Given the description of an element on the screen output the (x, y) to click on. 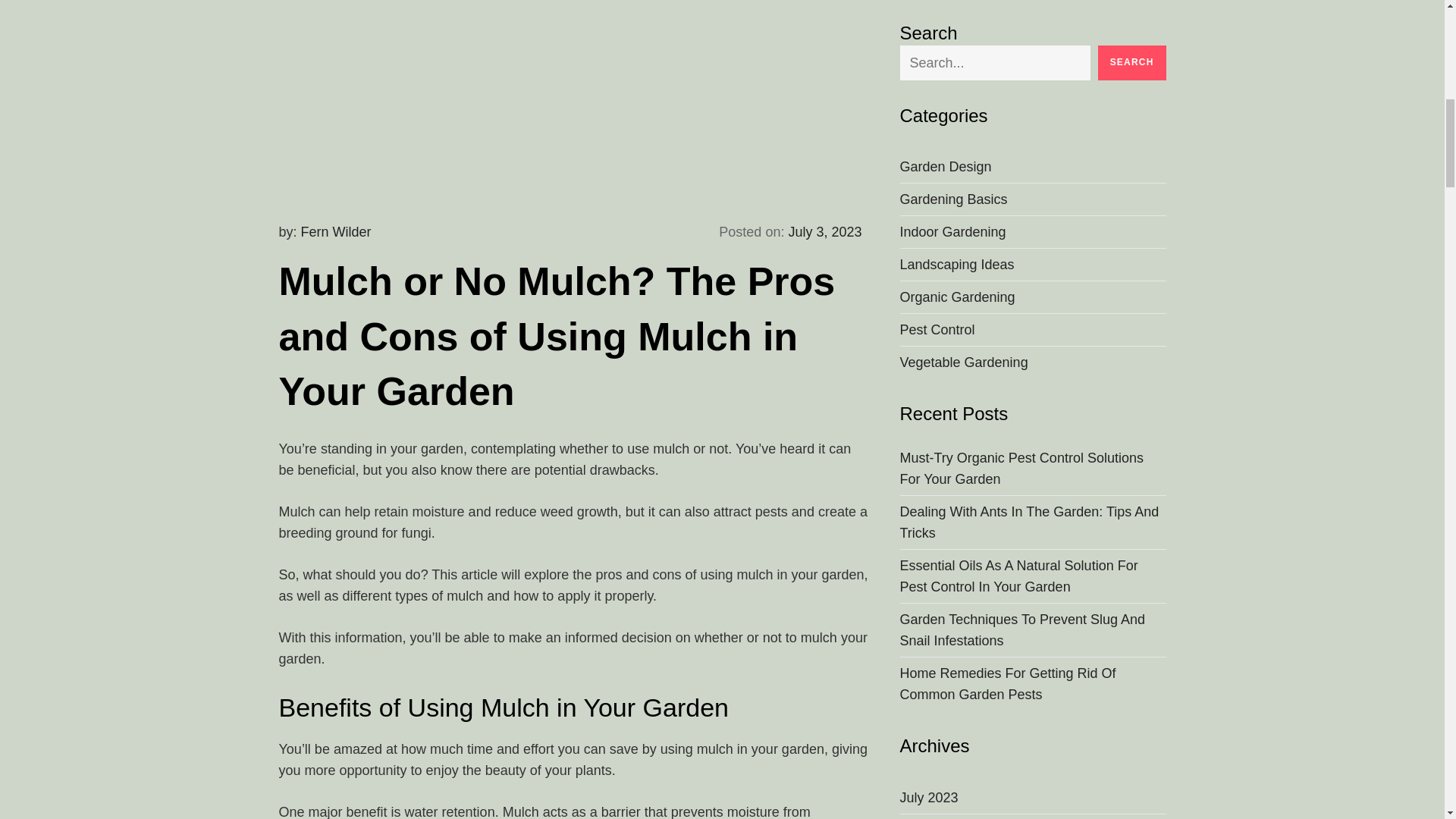
June 2023 (930, 400)
Must-Try Organic Pest Control Solutions For Your Garden (1032, 38)
May 2023 (929, 432)
July 3, 2023 (824, 231)
Fern Wilder (336, 231)
Dealing With Ants In The Garden: Tips And Tricks (1032, 92)
July 2023 (928, 366)
Home Remedies For Getting Rid Of Common Garden Pests (1032, 253)
Garden Techniques To Prevent Slug And Snail Infestations (1032, 200)
